Given the description of an element on the screen output the (x, y) to click on. 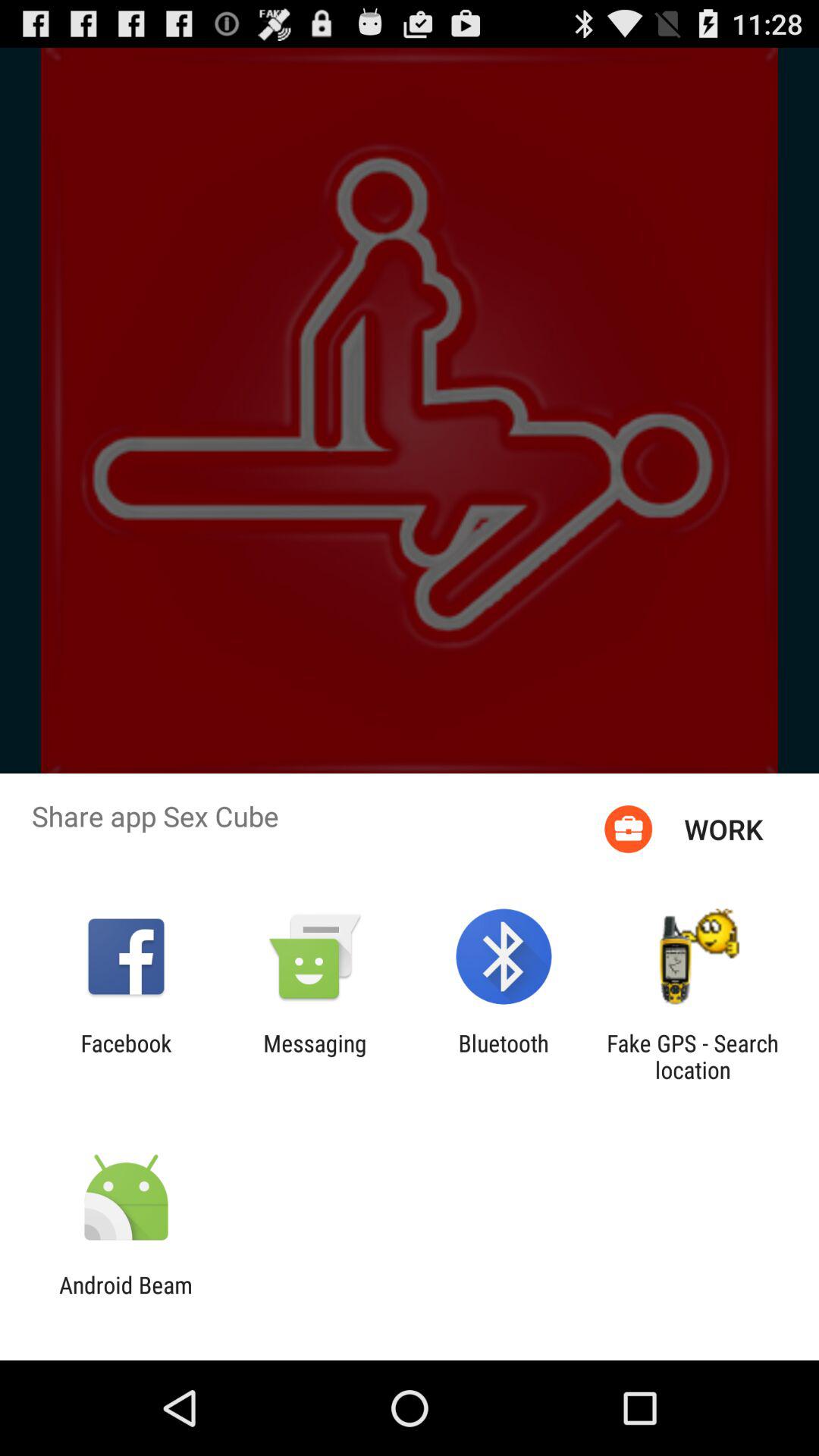
swipe to the bluetooth app (503, 1056)
